Given the description of an element on the screen output the (x, y) to click on. 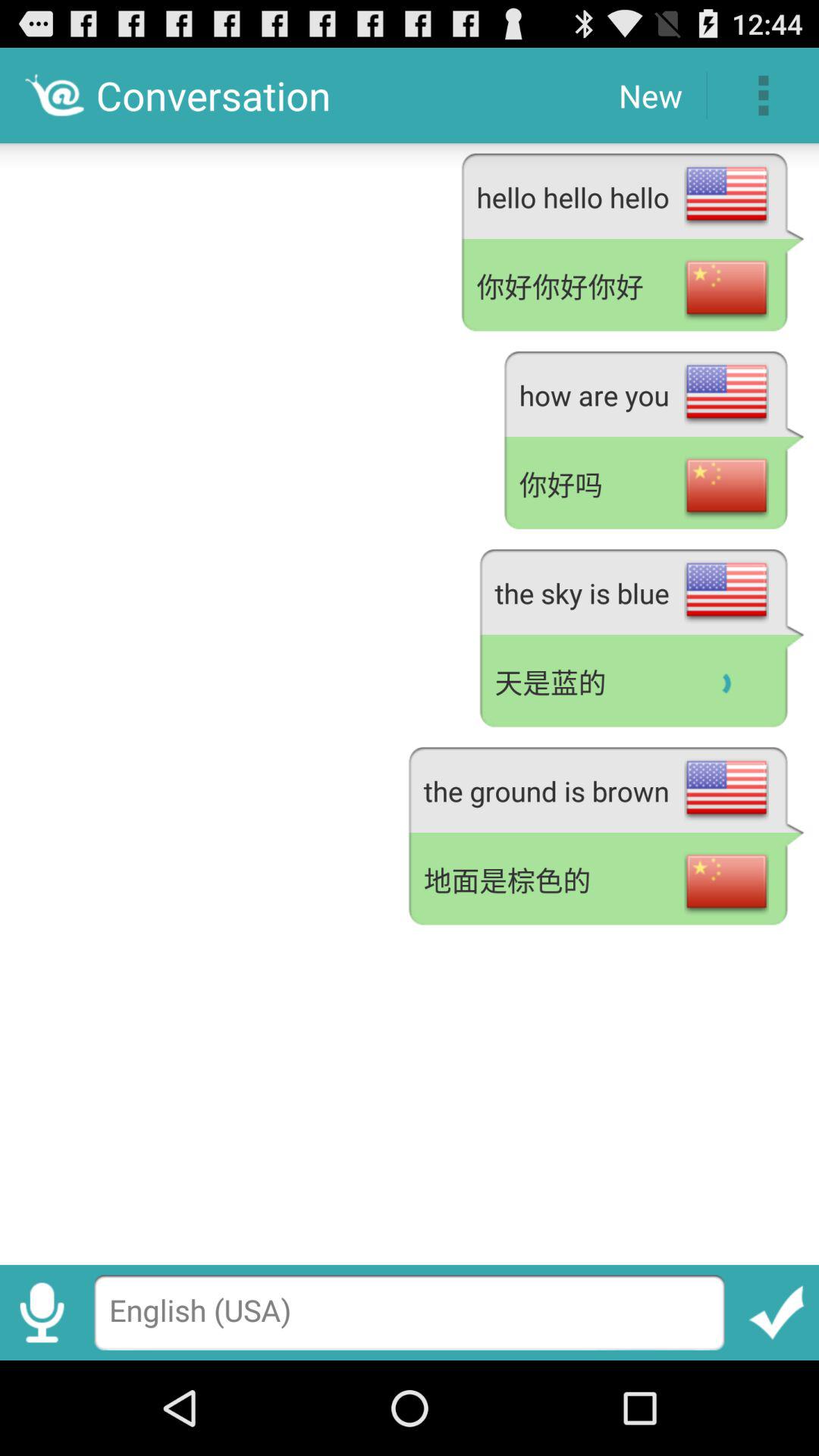
translate (776, 1312)
